Given the description of an element on the screen output the (x, y) to click on. 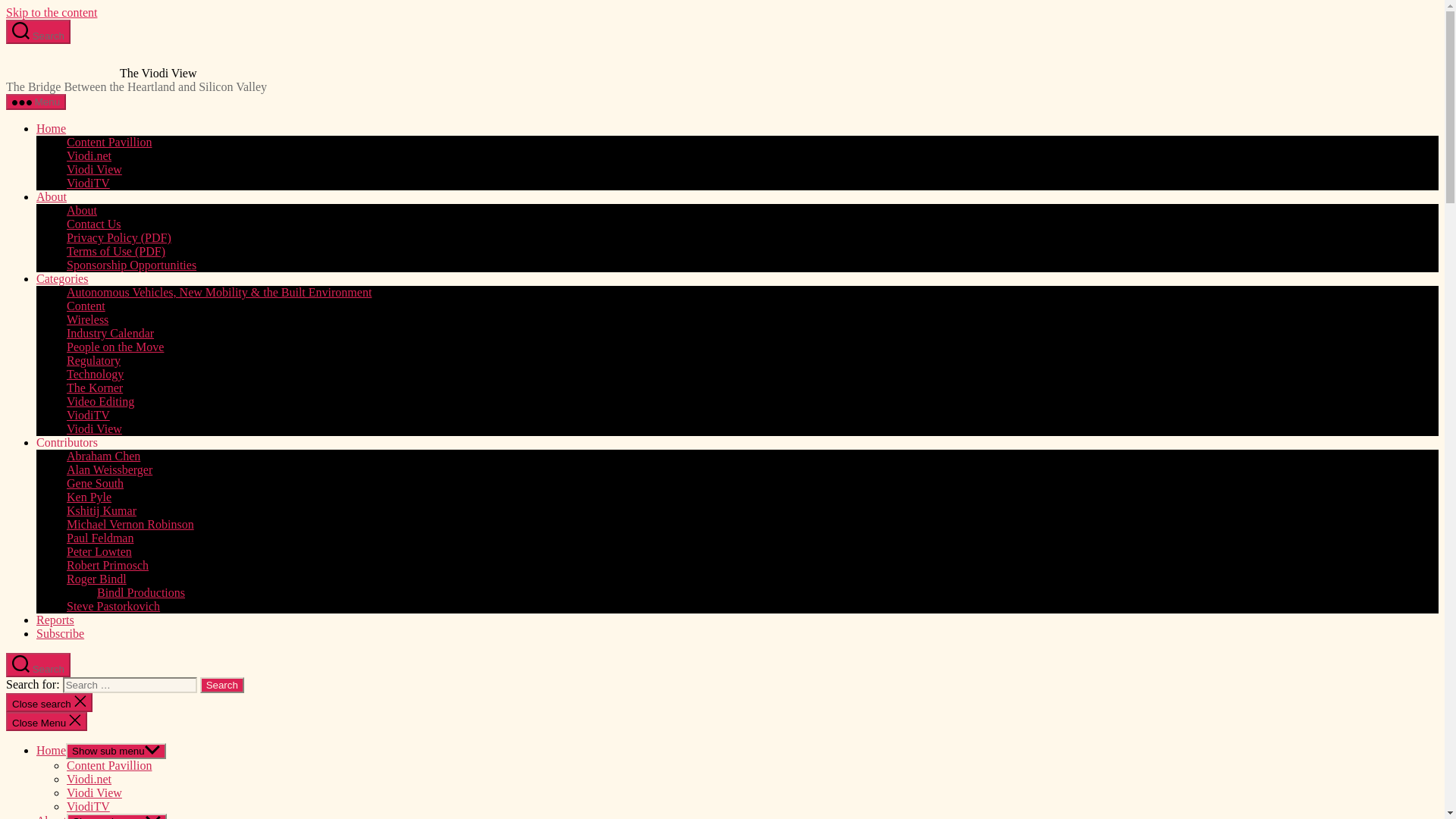
Ken Pyle (89, 496)
Technology (94, 373)
Sponsorship Opportunities (131, 264)
About (81, 210)
Wireless (86, 318)
People on the Move (114, 346)
Video Editing (99, 400)
Paul Feldman (99, 537)
Search (37, 31)
Search (222, 684)
